Given the description of an element on the screen output the (x, y) to click on. 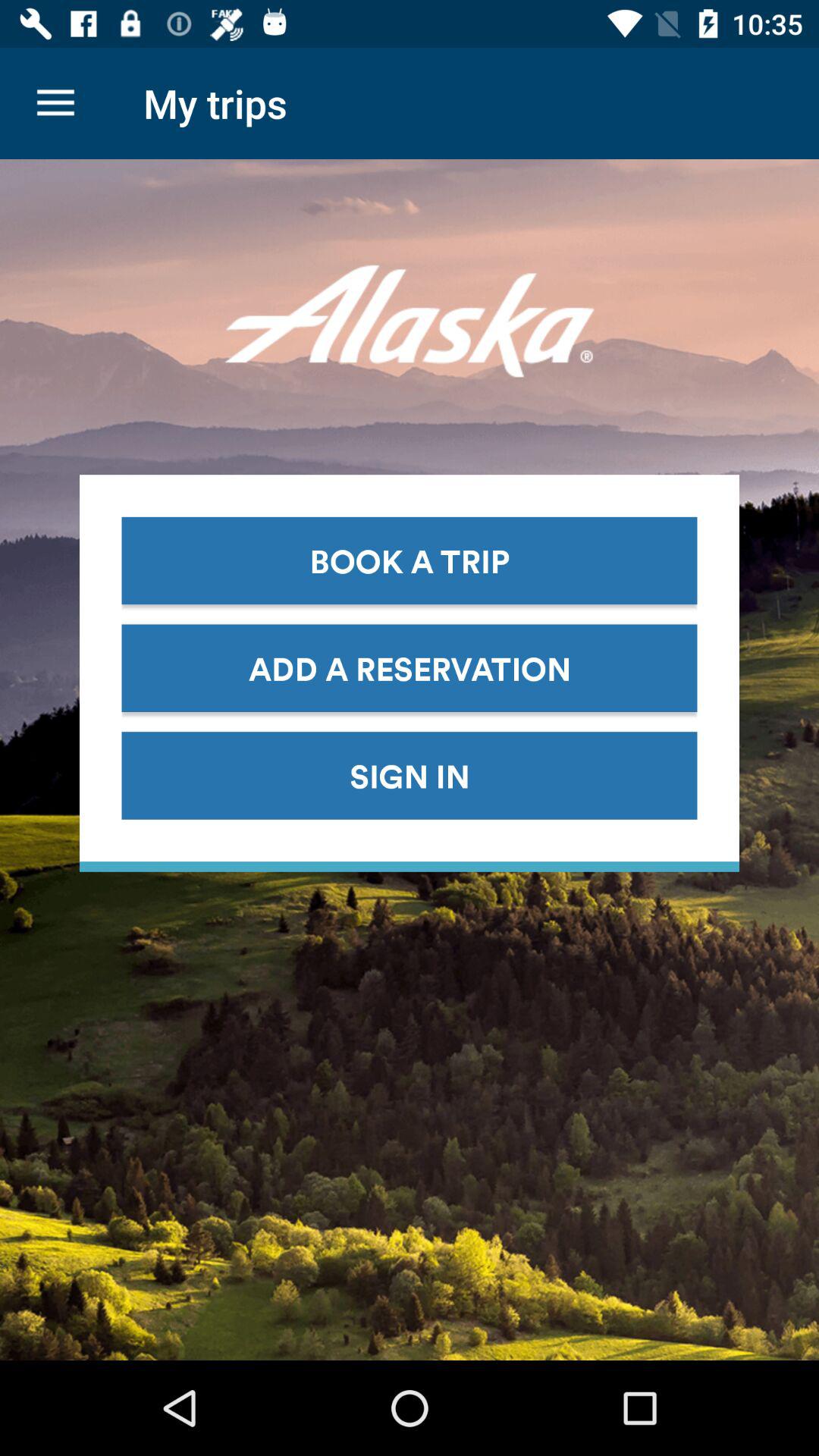
launch the sign in (409, 775)
